Given the description of an element on the screen output the (x, y) to click on. 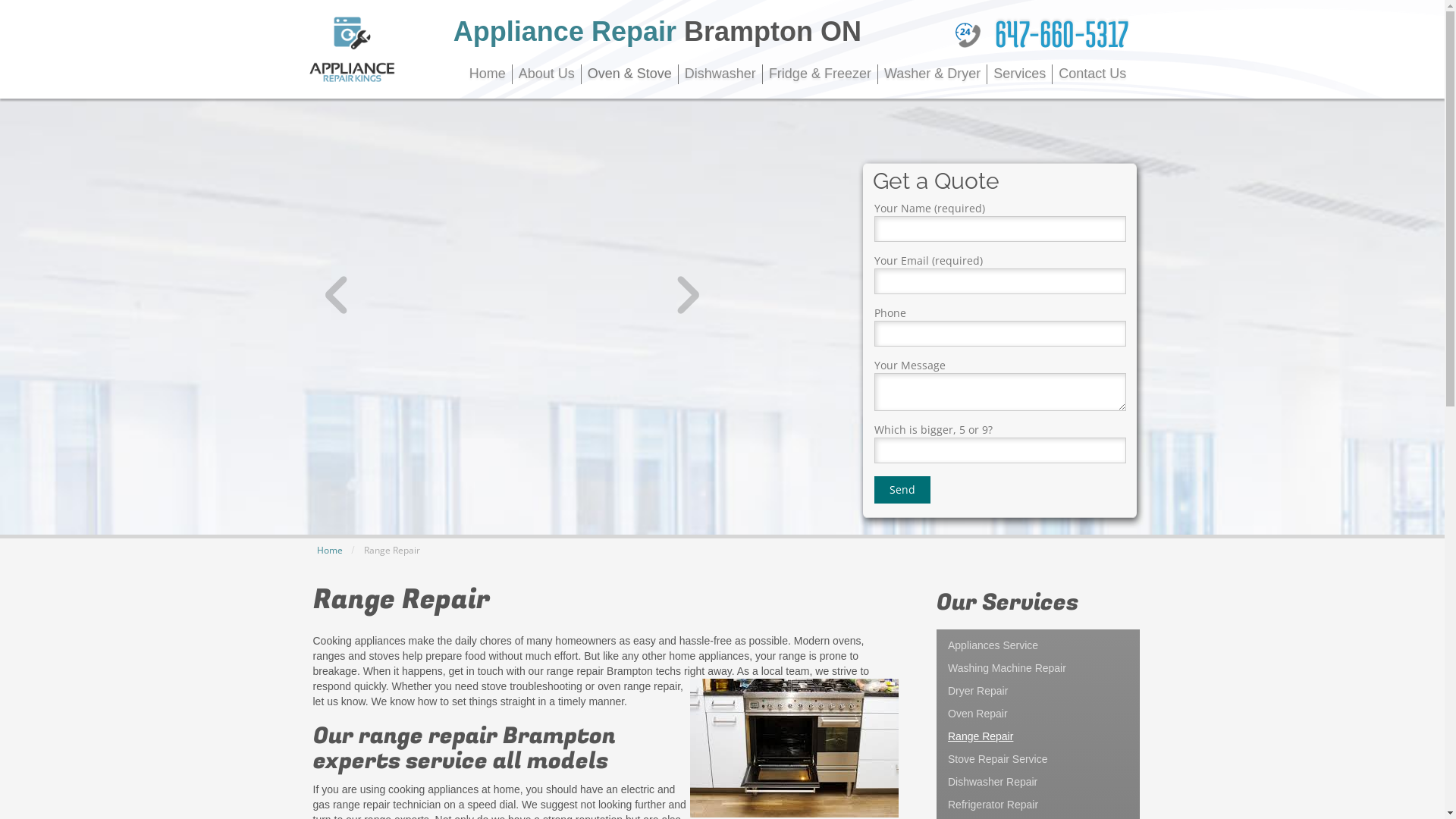
Contact Us Element type: text (1092, 74)
Home Element type: text (329, 549)
Oven Repair Element type: text (1038, 713)
Send Element type: text (902, 489)
Refrigerator Repair Element type: text (1038, 804)
Fridge & Freezer Element type: text (820, 74)
About Us Element type: text (546, 74)
Washing Machine Repair Element type: text (1038, 667)
Washer & Dryer Element type: text (932, 74)
Dishwasher Repair Element type: text (1038, 781)
Home Element type: text (487, 74)
Oven & Stove Element type: text (629, 74)
Range Repair Element type: text (1038, 735)
Appliances Service Element type: text (1038, 644)
647-660-5317 Element type: text (1061, 33)
Dryer Repair Element type: text (1038, 690)
Stove Repair Service Element type: text (1038, 758)
Services Element type: text (1019, 74)
Dishwasher Element type: text (720, 74)
